Given the description of an element on the screen output the (x, y) to click on. 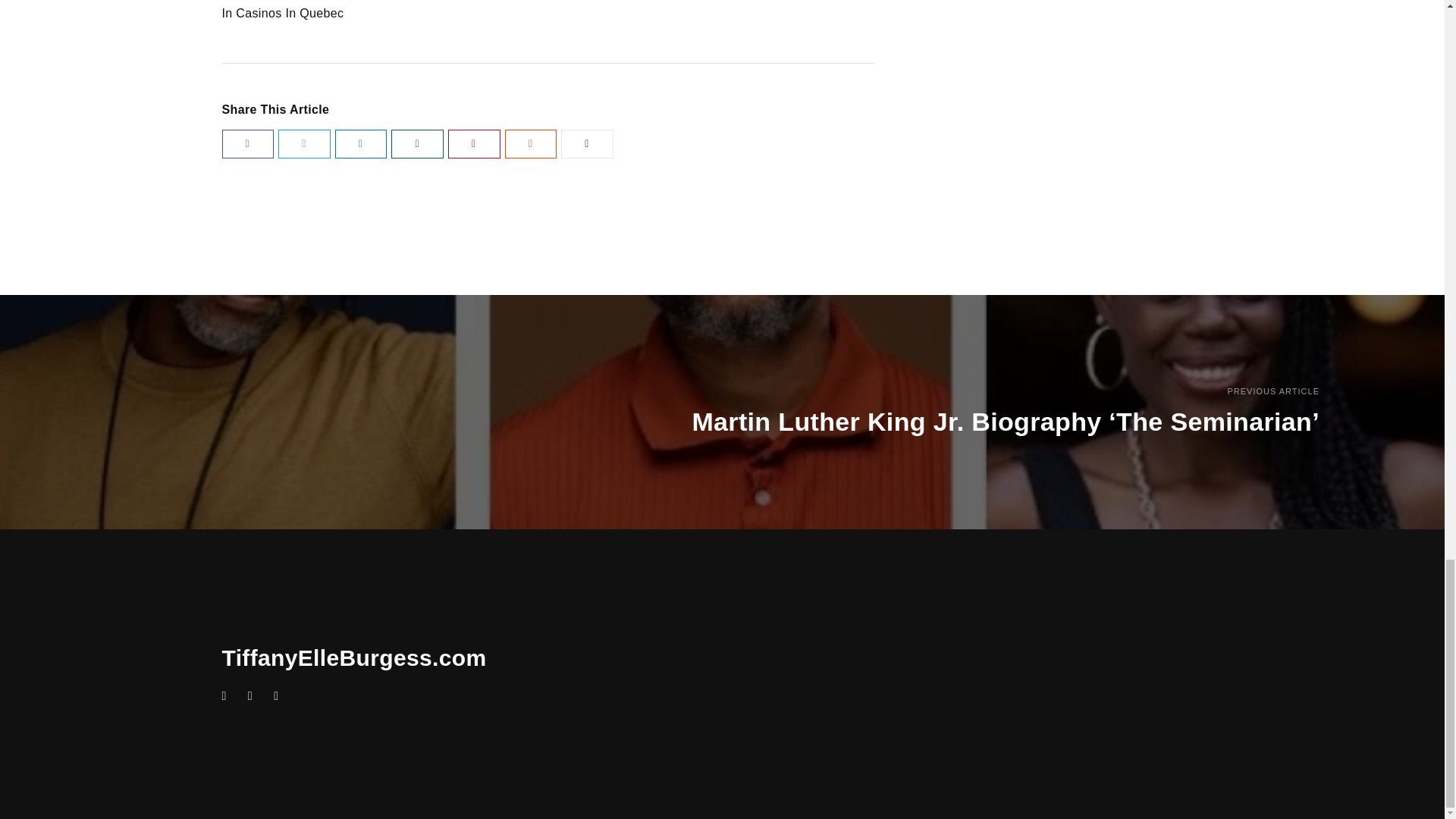
In Casinos In Quebec (282, 12)
